Given the description of an element on the screen output the (x, y) to click on. 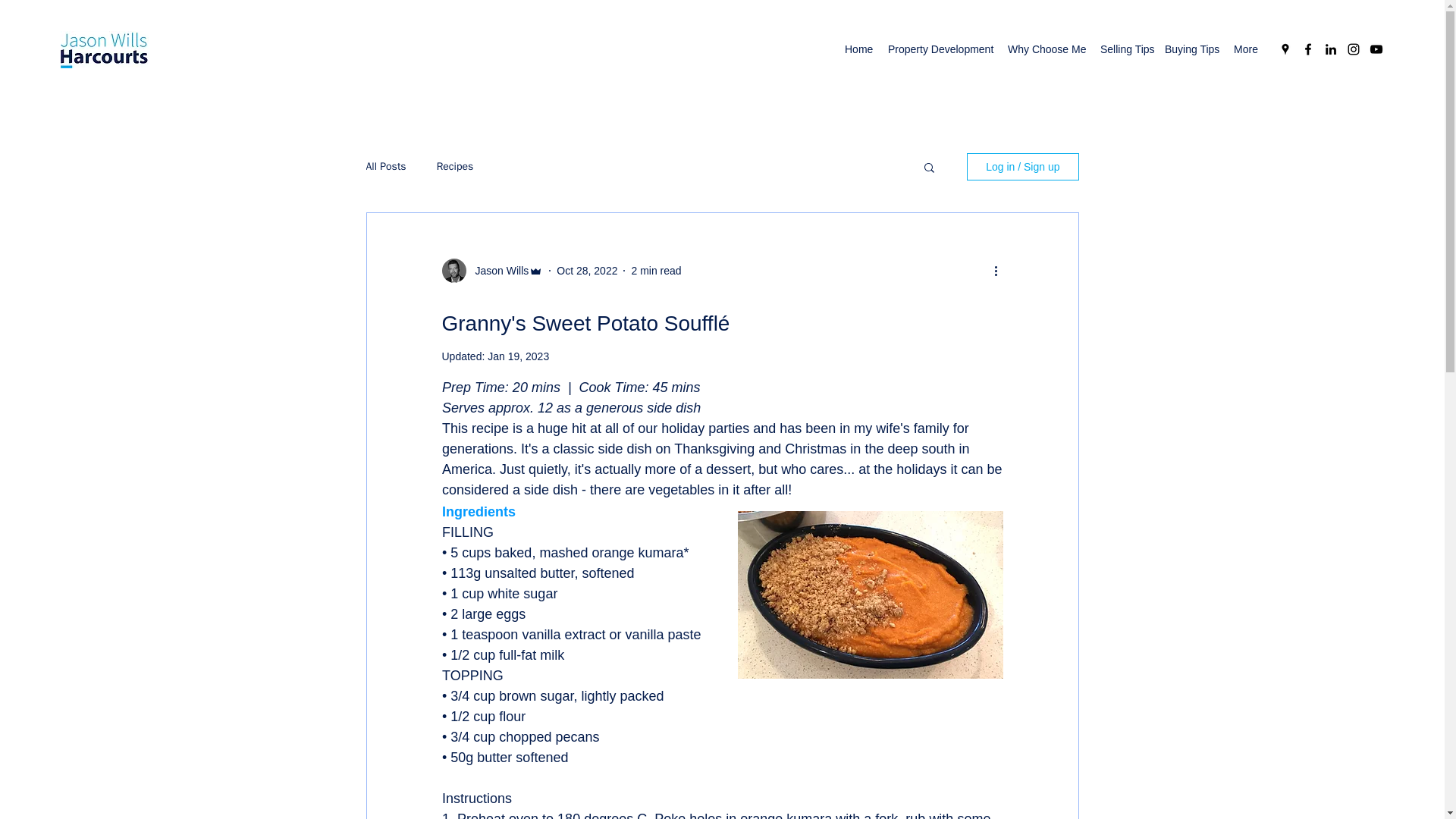
Buying Tips (1190, 48)
Oct 28, 2022 (586, 269)
Jan 19, 2023 (517, 356)
Home (858, 48)
Why Choose Me (1046, 48)
Jason Wills (496, 270)
2 min read (655, 269)
Property Development (940, 48)
Recipes (455, 166)
All Posts (385, 166)
Selling Tips (1125, 48)
